Given the description of an element on the screen output the (x, y) to click on. 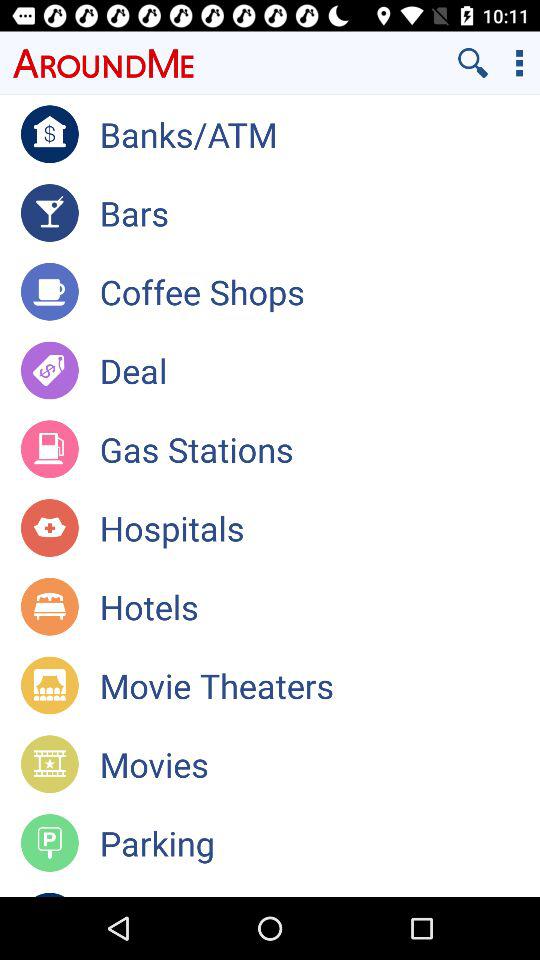
turn off banks/atm item (319, 134)
